Given the description of an element on the screen output the (x, y) to click on. 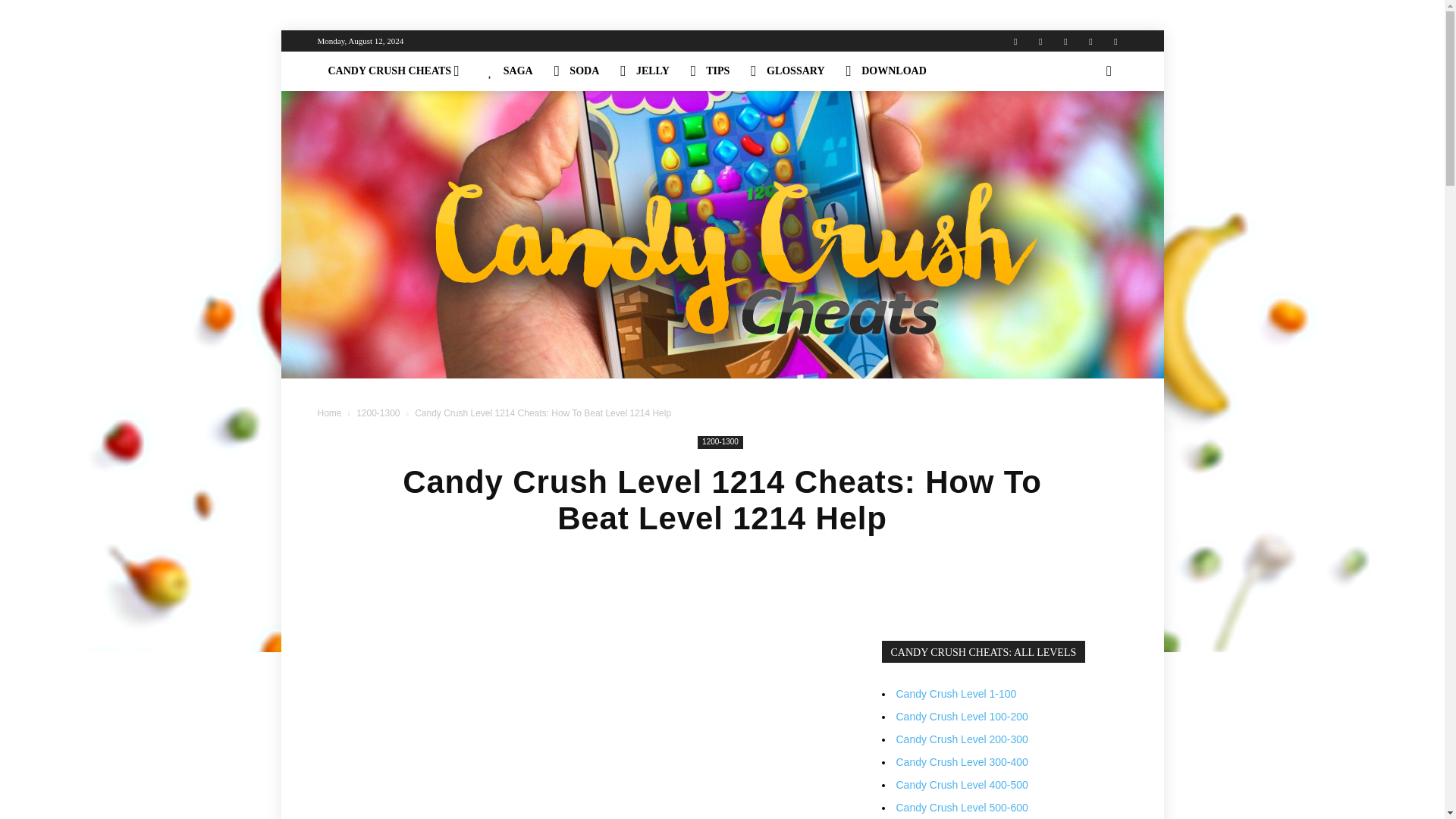
Twitter (1065, 40)
JELLY (644, 70)
VKontakte (1090, 40)
GLOSSARY (786, 70)
Facebook (1040, 40)
Candy Crush Saga Cheats (510, 70)
Evernote (1015, 40)
Youtube (1114, 40)
SAGA (510, 70)
TIPS (710, 70)
